Given the description of an element on the screen output the (x, y) to click on. 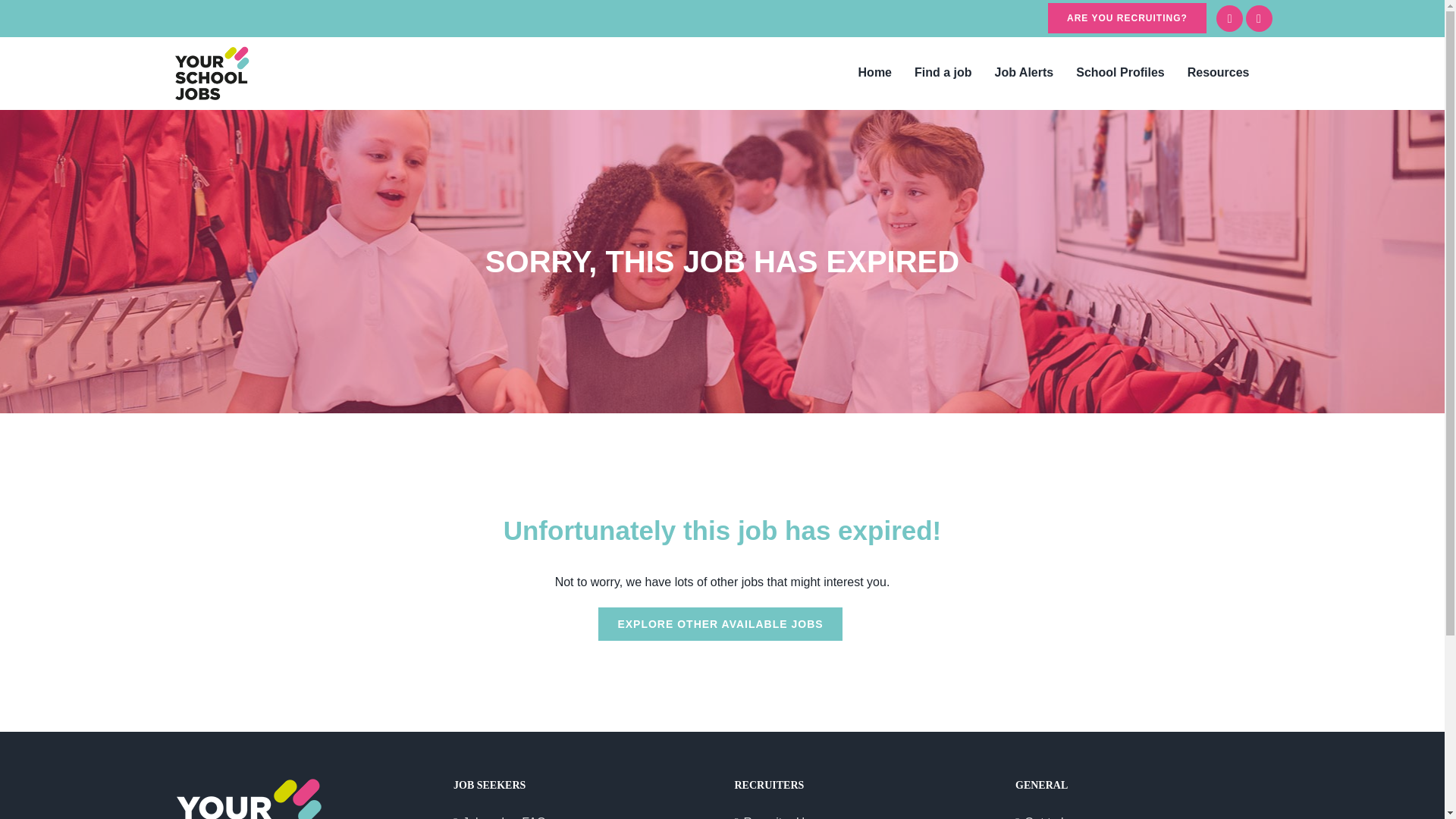
ARE YOU RECRUITING? (1127, 18)
Recruiter Home (863, 816)
EXPLORE OTHER AVAILABLE JOBS (719, 623)
Jobseeker FAQs (583, 816)
School Profiles (1119, 72)
Get to know us (1145, 816)
